Given the description of an element on the screen output the (x, y) to click on. 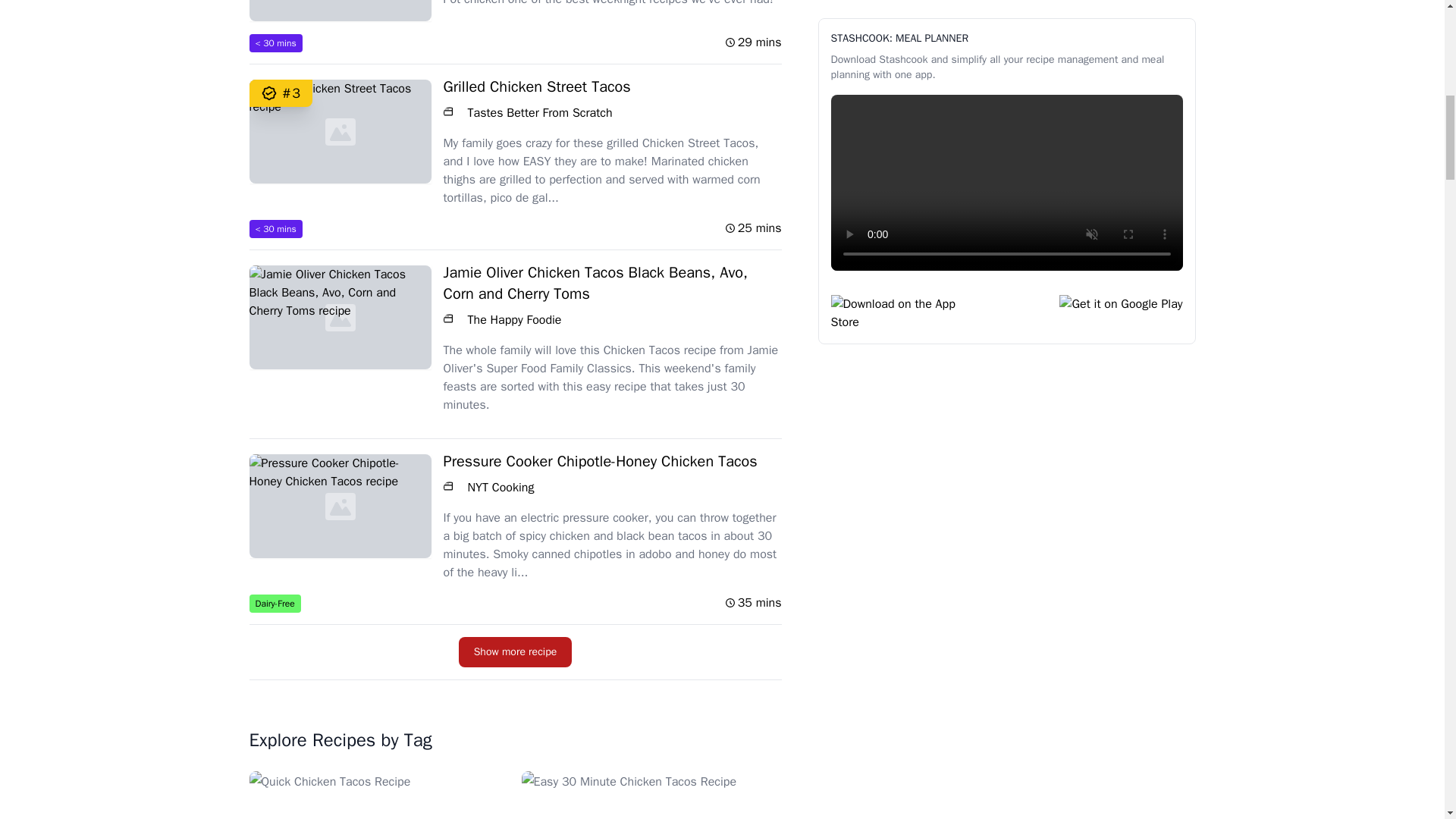
Pressure Cooker Chipotle-Honey Chicken Tacos (514, 461)
Show more recipe (515, 652)
Grilled Chicken Street Tacos (514, 86)
